Given the description of an element on the screen output the (x, y) to click on. 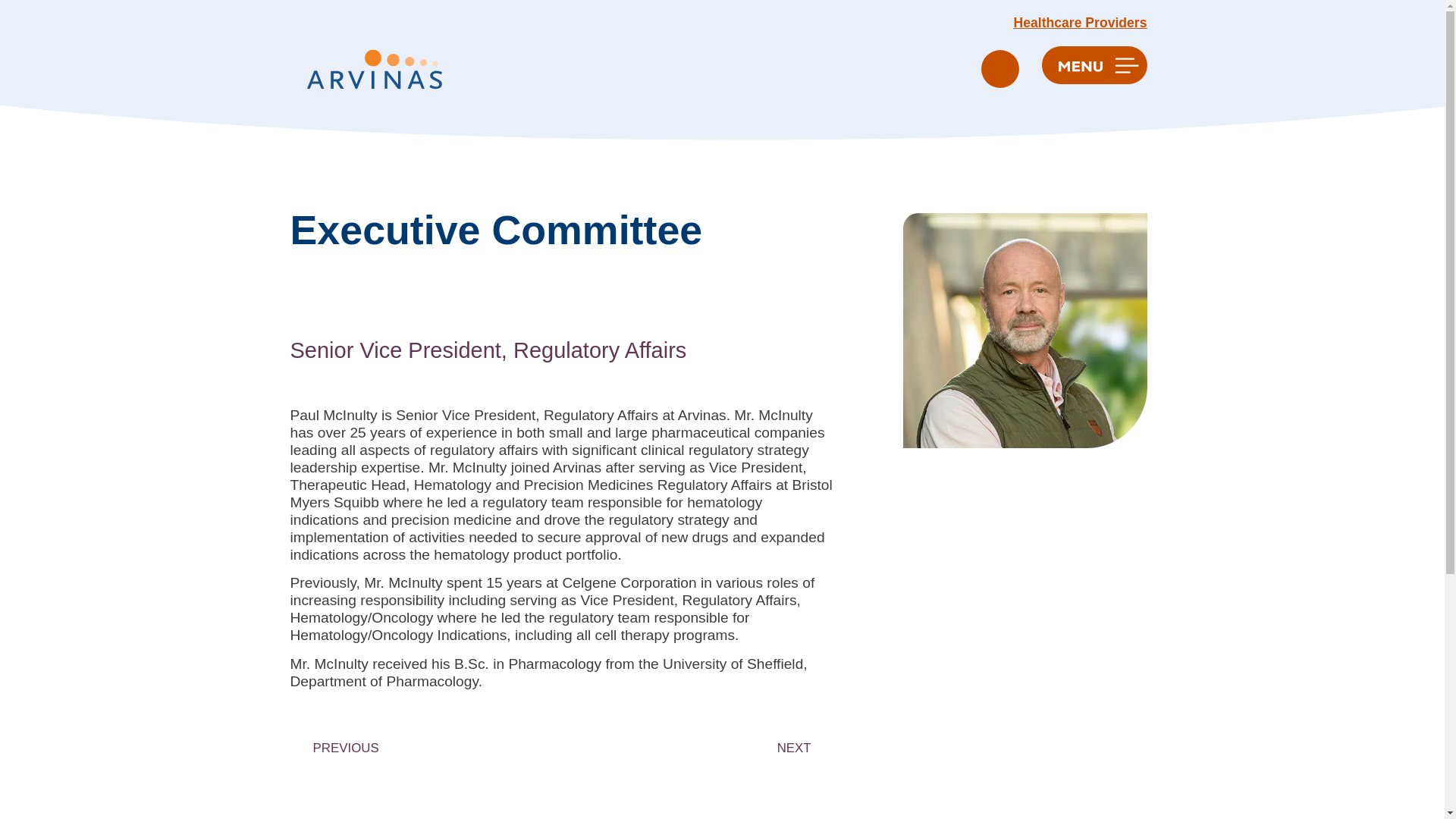
NEXT (694, 747)
PREVIOUS (429, 747)
Healthcare Providers (1080, 23)
Executive Committee (495, 229)
